Given the description of an element on the screen output the (x, y) to click on. 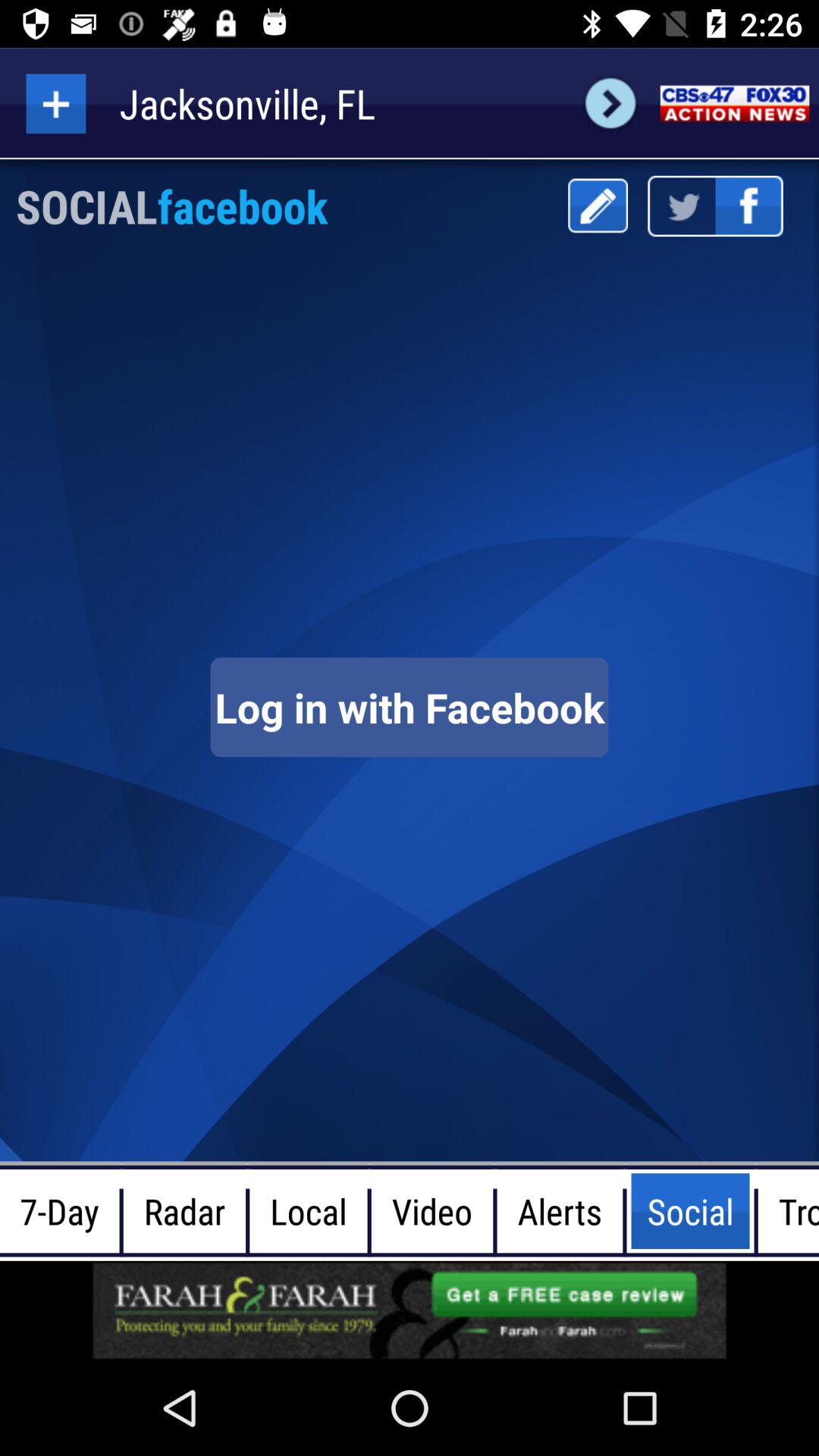
add a new contact (55, 103)
